Given the description of an element on the screen output the (x, y) to click on. 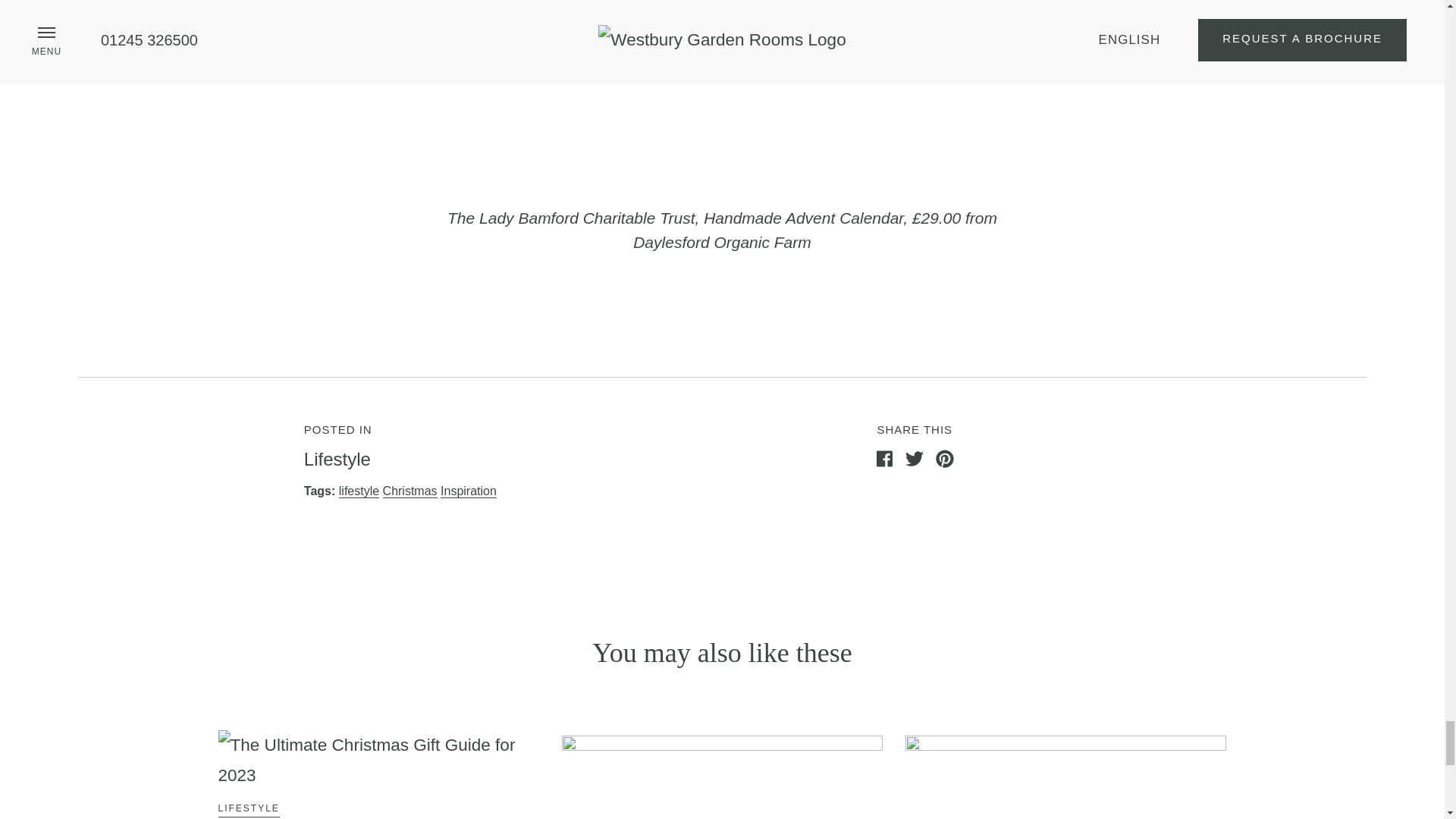
How to extend a kitchen with an orangery (1065, 810)
The Ultimate Christmas Gift Guide for 2023 (378, 759)
How to begin the journey to building an orangery? (722, 810)
